Given the description of an element on the screen output the (x, y) to click on. 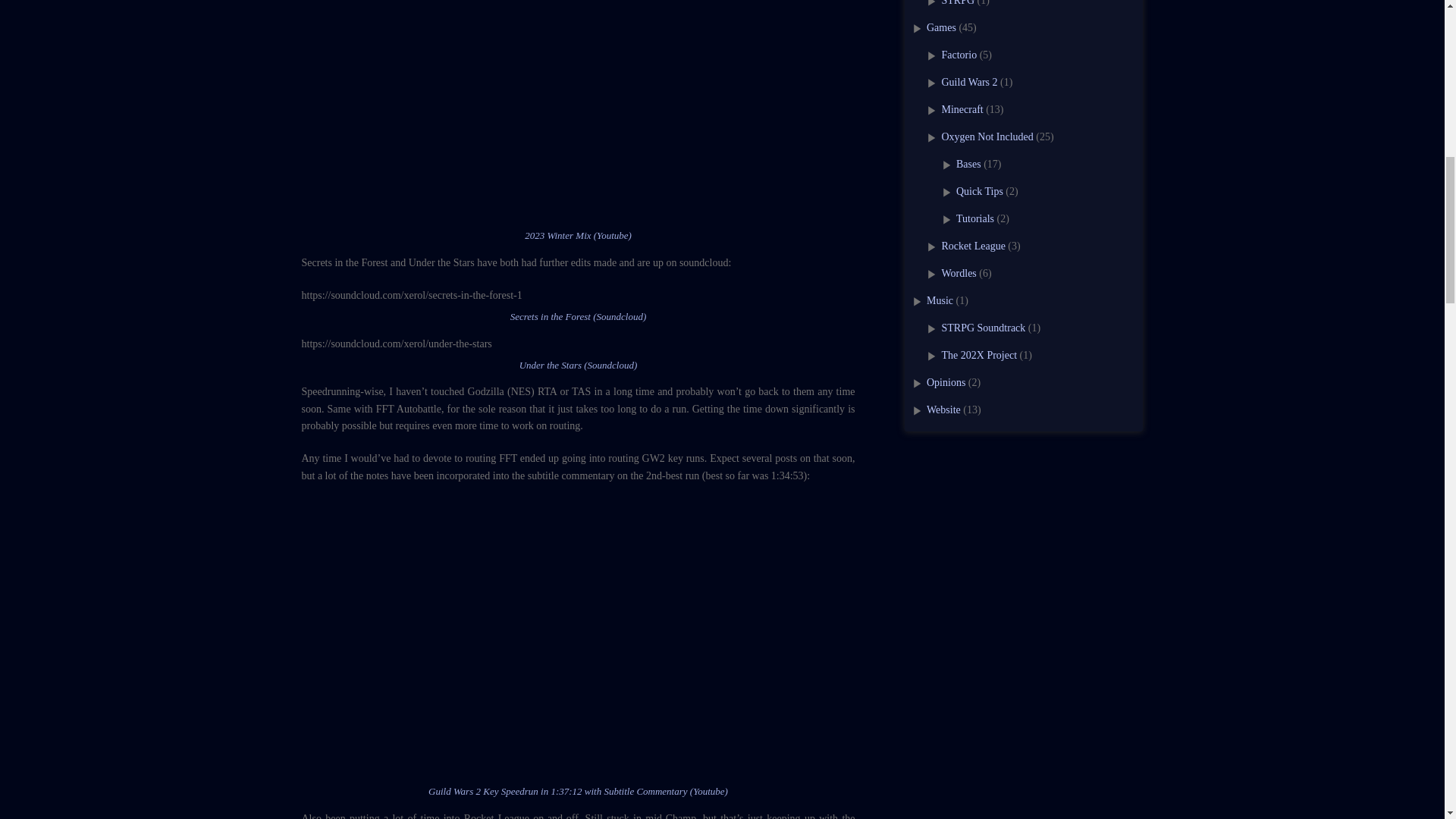
STRPG (958, 2)
Games (941, 27)
Factorio (959, 54)
